Given the description of an element on the screen output the (x, y) to click on. 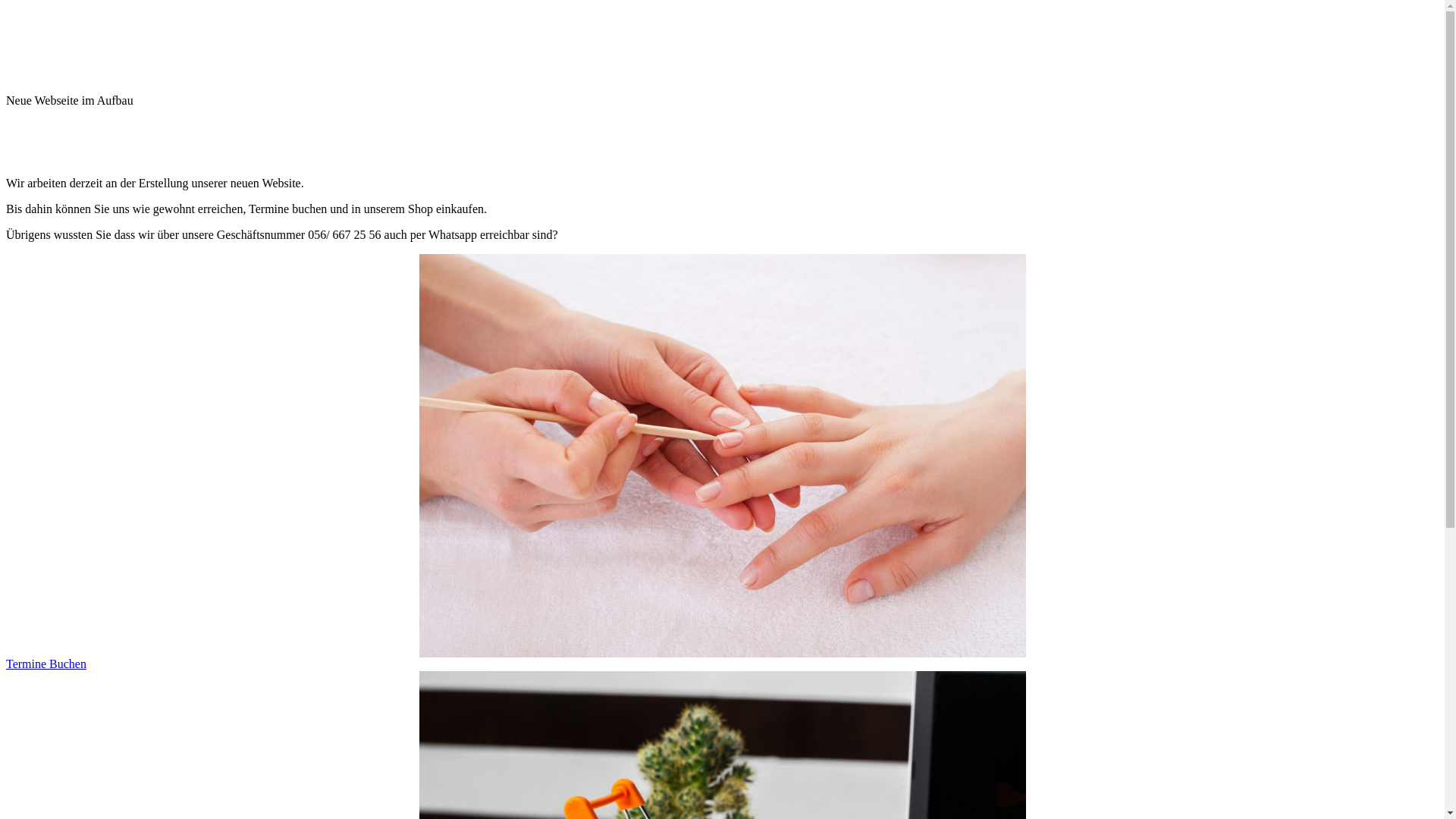
Termine Buchen Element type: text (46, 663)
JK-Logo_Header_Small Element type: hover (721, 43)
